Given the description of an element on the screen output the (x, y) to click on. 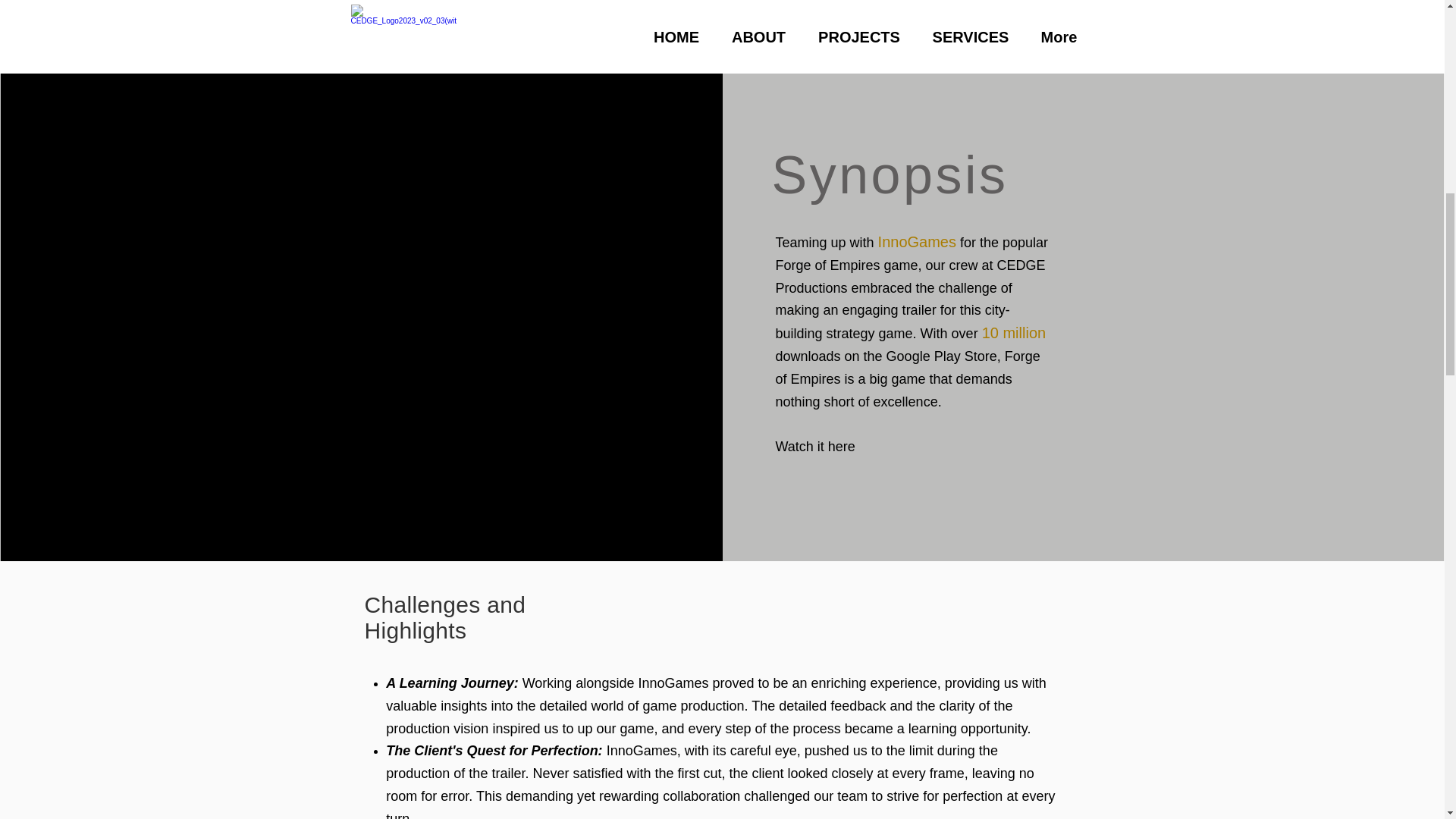
InnoGames (916, 241)
